Given the description of an element on the screen output the (x, y) to click on. 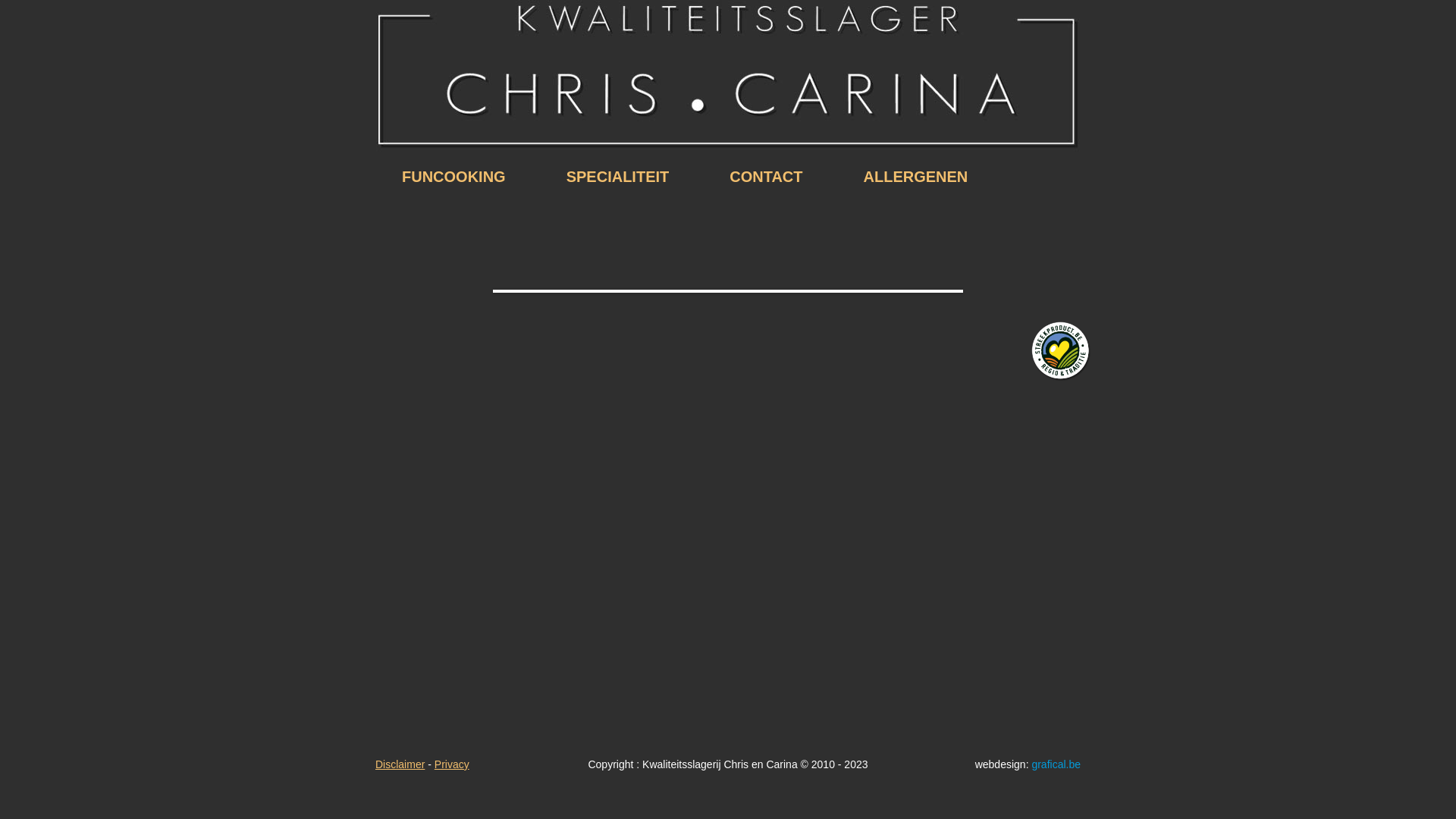
FUNCOOKING Element type: text (453, 176)
Kwaliteitsslagerij Chris en Carina Element type: hover (728, 75)
CONTACT Element type: text (765, 176)
Disclaimer Element type: text (399, 764)
SPECIALITEIT Element type: text (617, 176)
grafical.be Element type: text (1055, 764)
ALLERGENEN Element type: text (915, 176)
Privacy Element type: text (451, 764)
